Given the description of an element on the screen output the (x, y) to click on. 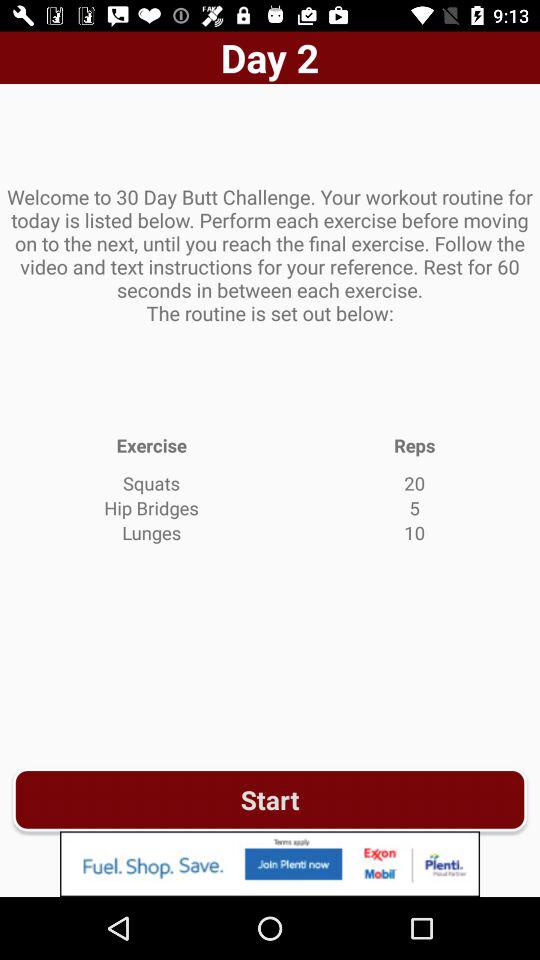
go to advertisement website (270, 864)
